Given the description of an element on the screen output the (x, y) to click on. 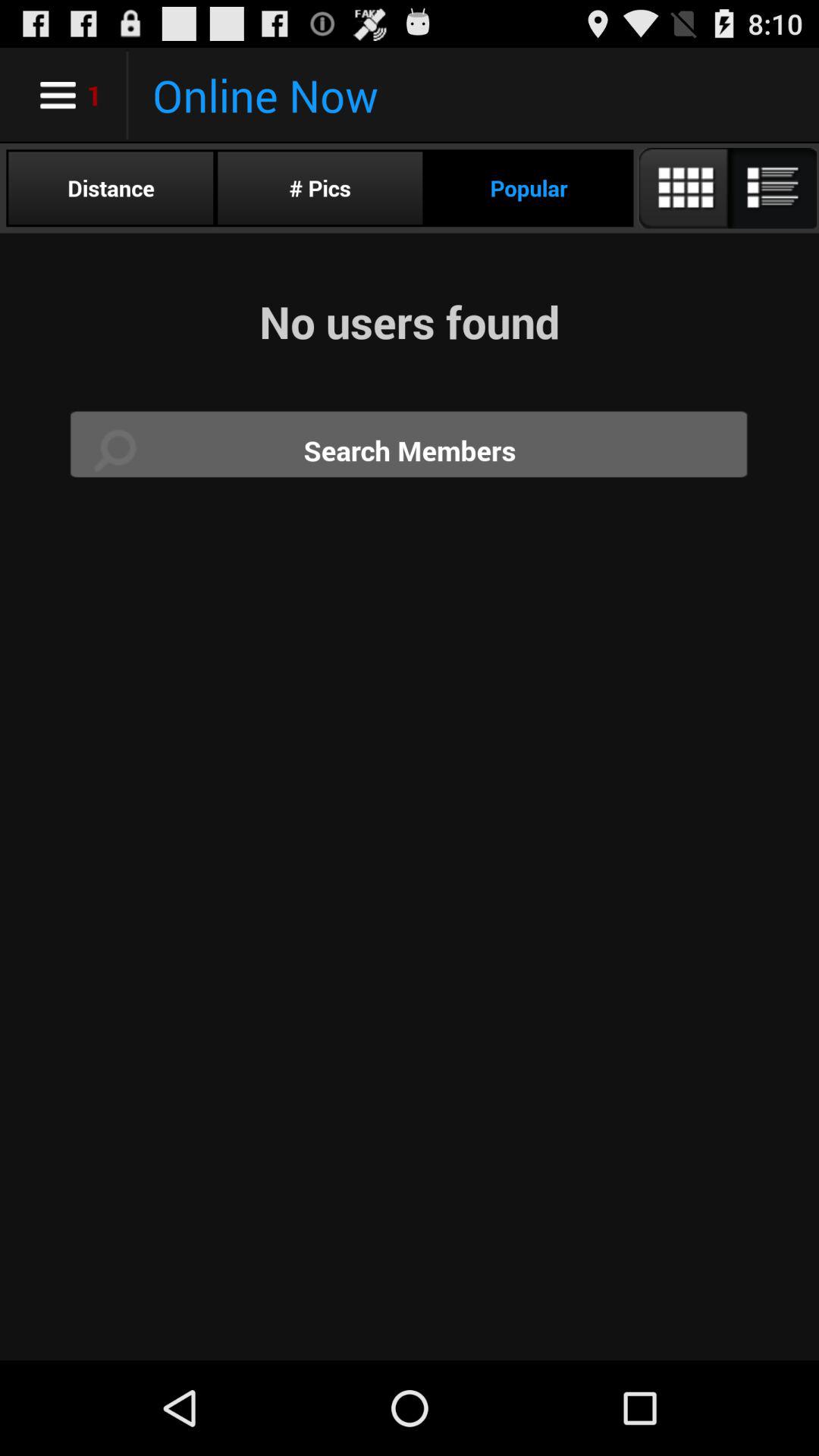
turn off the app below online now item (319, 187)
